Given the description of an element on the screen output the (x, y) to click on. 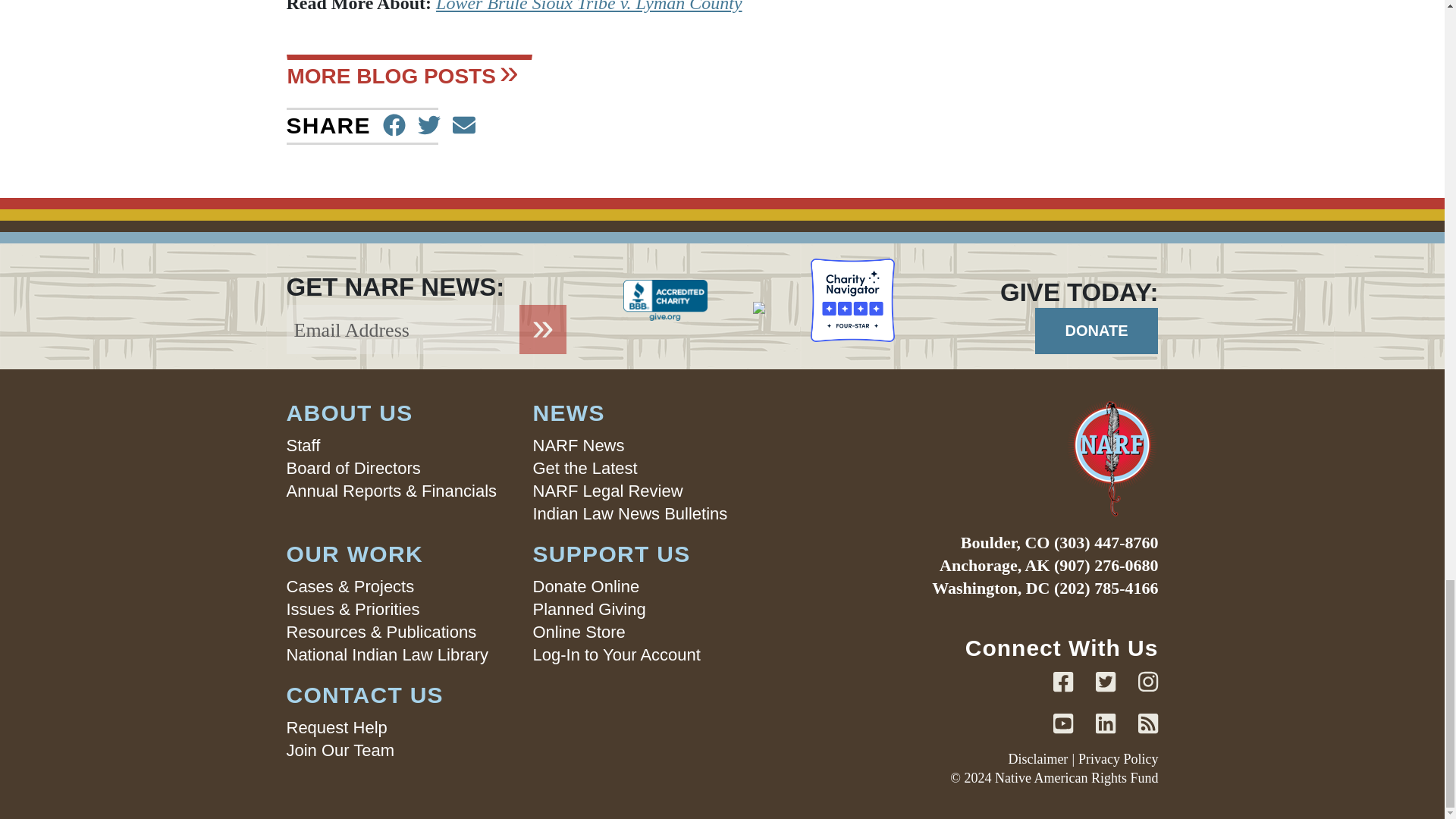
Send email (464, 125)
Donate (1096, 330)
Native American Rights Fund (980, 457)
Share on Facebook (394, 125)
Tweet (429, 125)
